Given the description of an element on the screen output the (x, y) to click on. 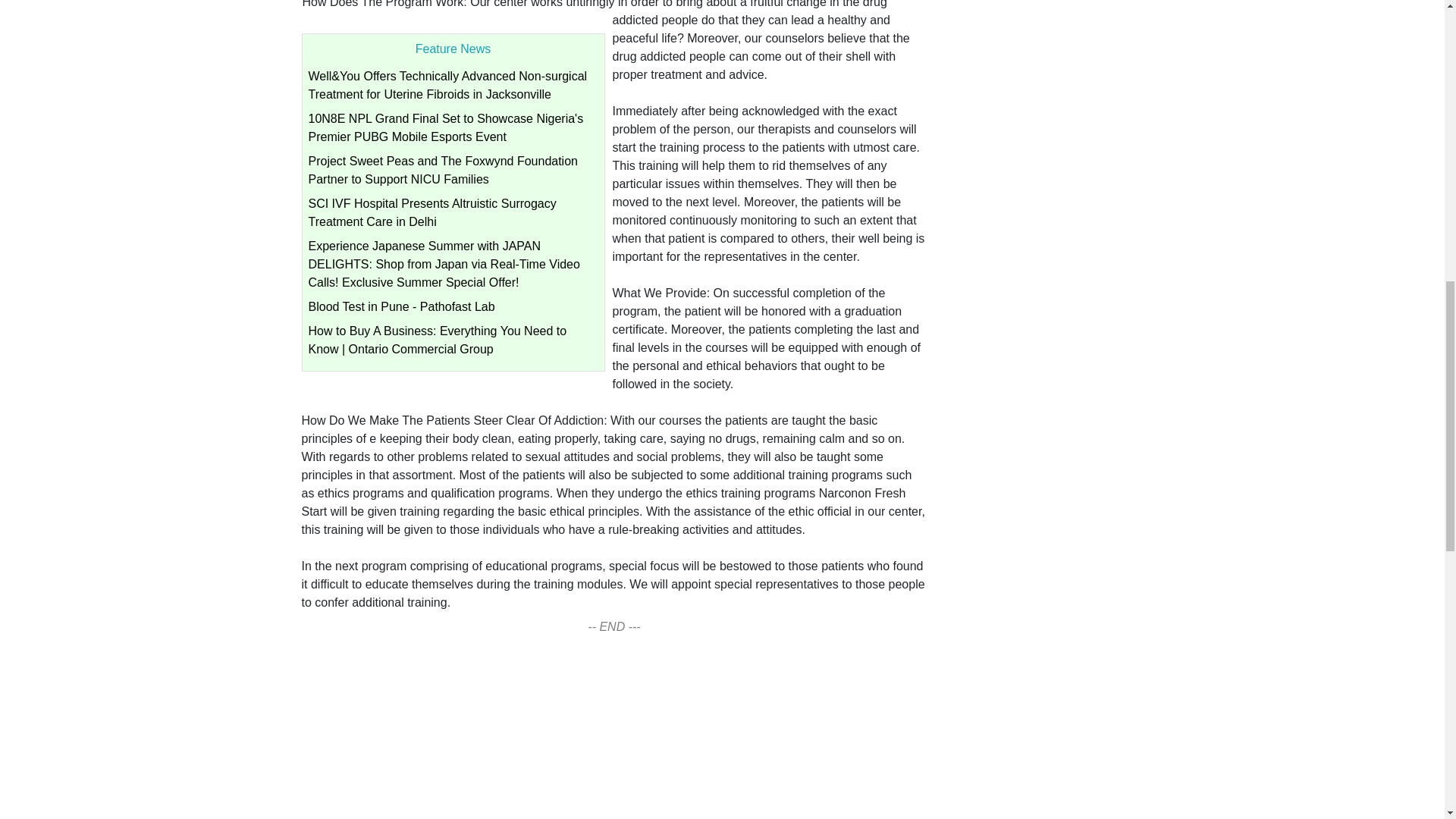
Blood Test in Pune - Pathofast Lab (401, 306)
Advertisement (614, 736)
